Given the description of an element on the screen output the (x, y) to click on. 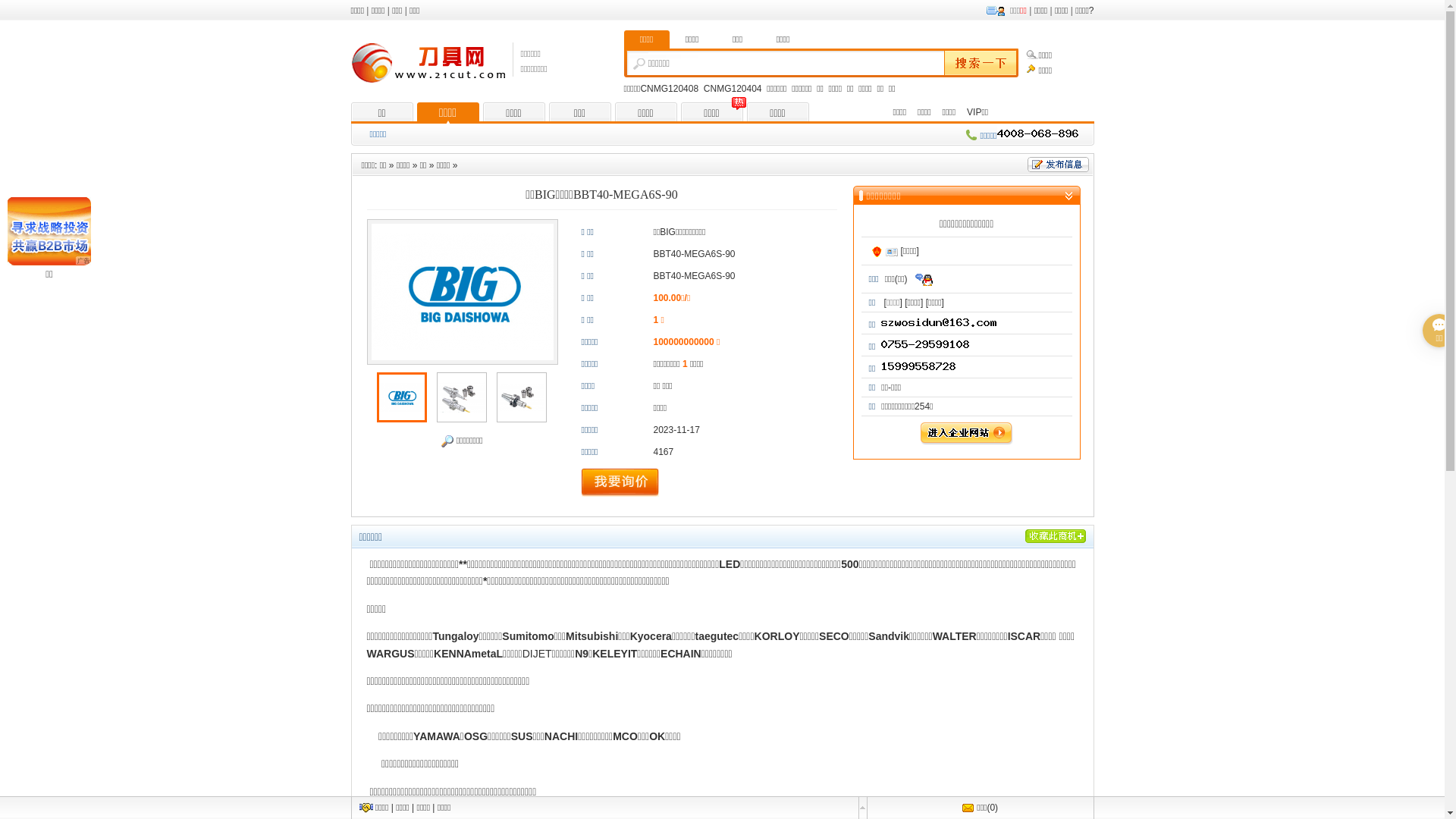
  Element type: text (978, 62)
CNMG120408 Element type: text (669, 88)
CNMG120404 Element type: text (732, 88)
